Given the description of an element on the screen output the (x, y) to click on. 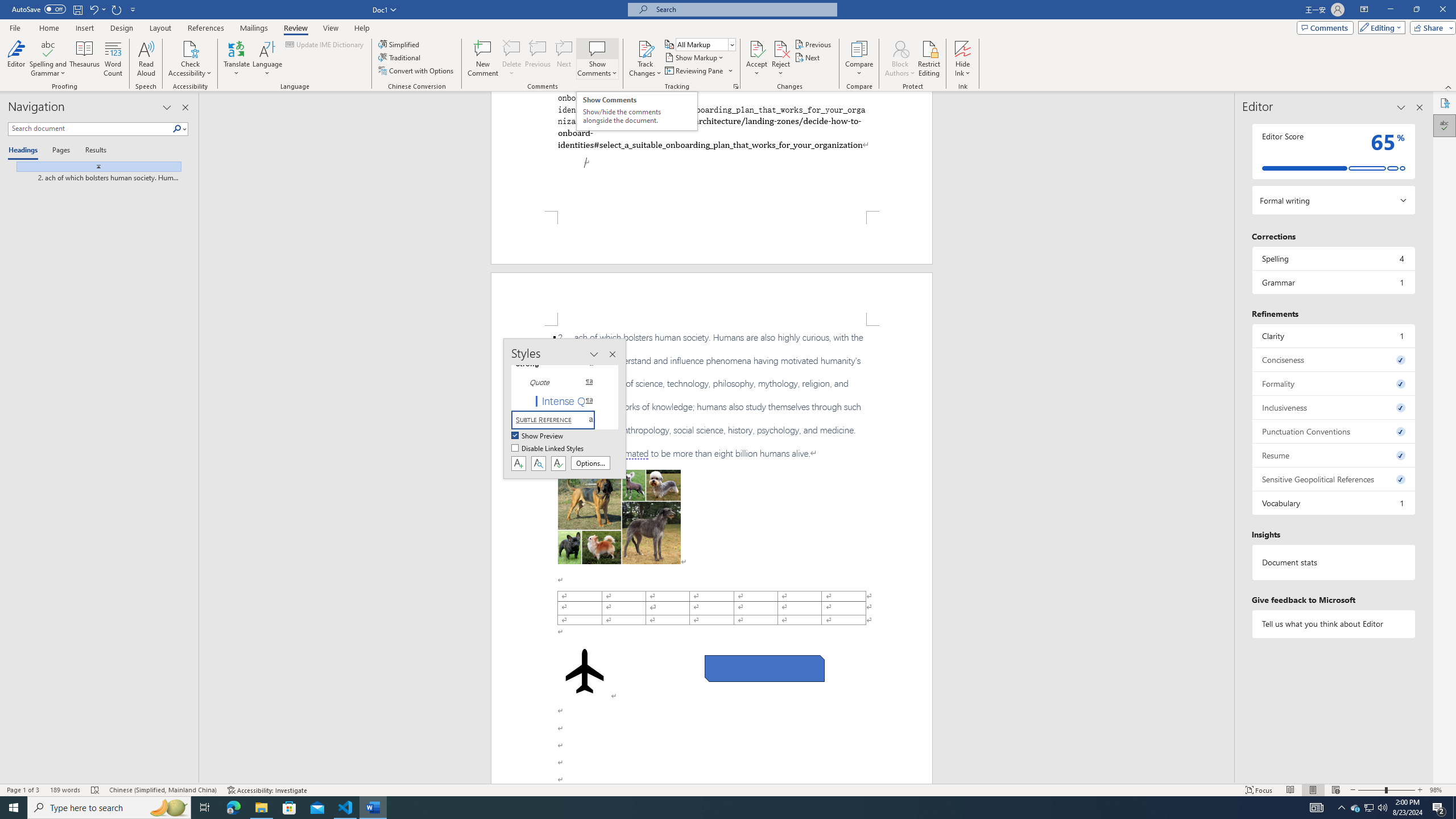
Check Accessibility (189, 58)
Spelling, 4 issues. Press space or enter to review items. (1333, 258)
Word Count (113, 58)
Show Comments (597, 58)
Translate (236, 58)
Update IME Dictionary... (324, 44)
Simplified (400, 44)
Spelling and Grammar (48, 48)
New Comment (482, 58)
Conciseness, 0 issues. Press space or enter to review items. (1333, 359)
